Given the description of an element on the screen output the (x, y) to click on. 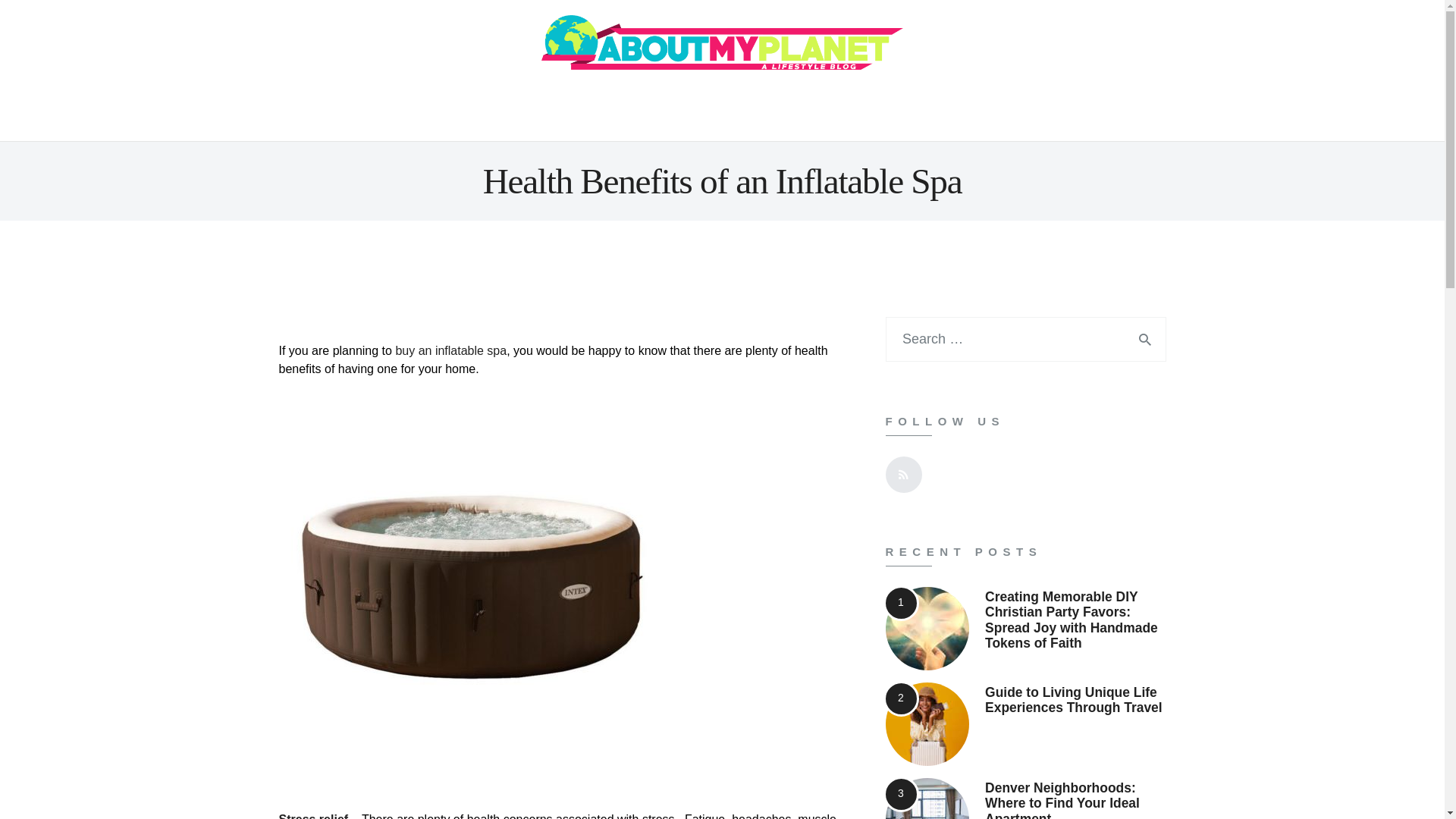
Search (1135, 338)
buy an inflatable spa (450, 350)
Search (1135, 338)
